Given the description of an element on the screen output the (x, y) to click on. 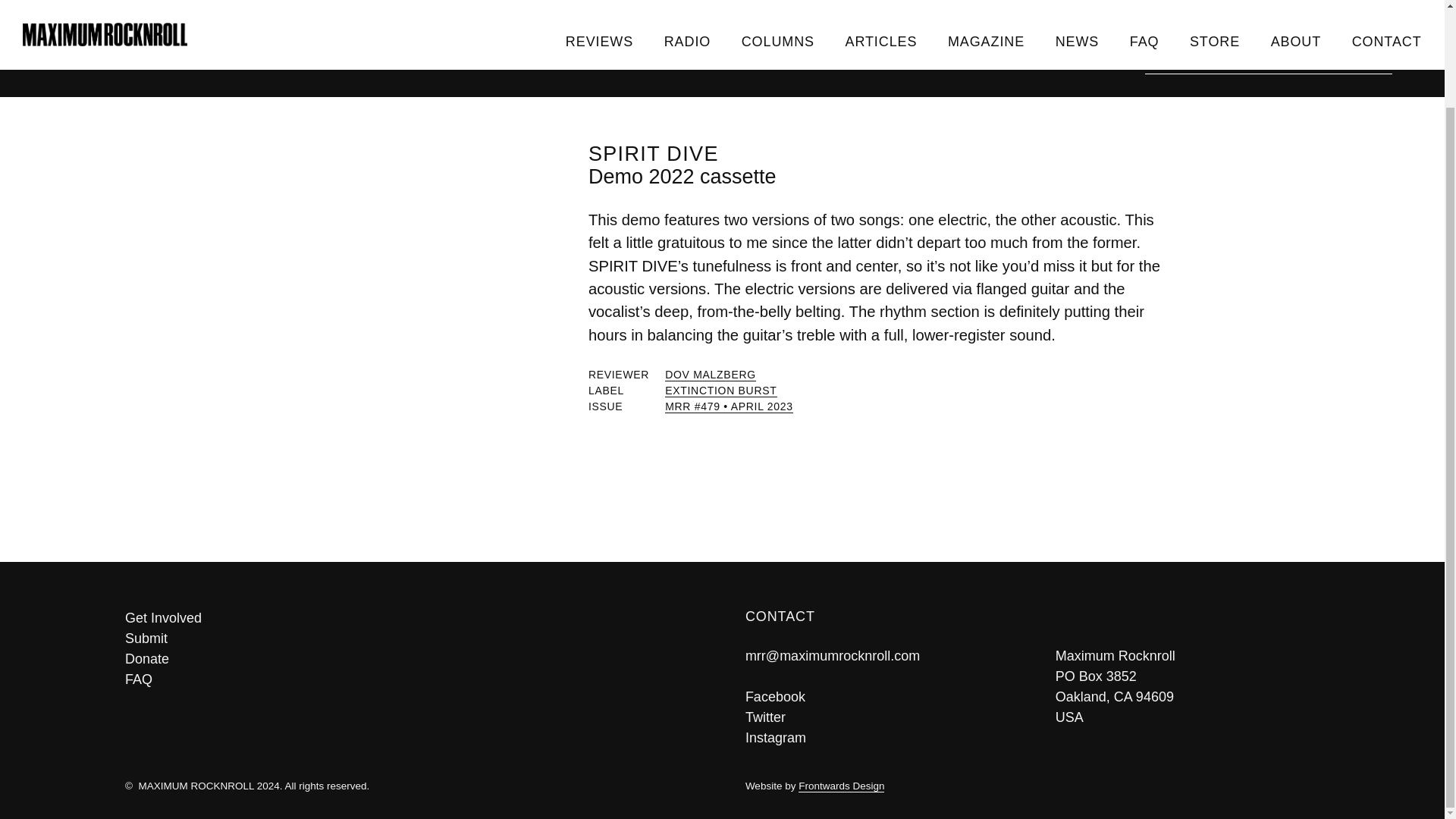
EXTINCTION BURST (720, 390)
Donate (411, 659)
Instagram (775, 737)
Facebook (775, 696)
Submit (411, 638)
Twitter (765, 717)
Get Involved (411, 618)
SPIRIT DIVE (653, 153)
DOV MALZBERG (710, 374)
FAQ (411, 679)
Frontwards Design (840, 786)
